Given the description of an element on the screen output the (x, y) to click on. 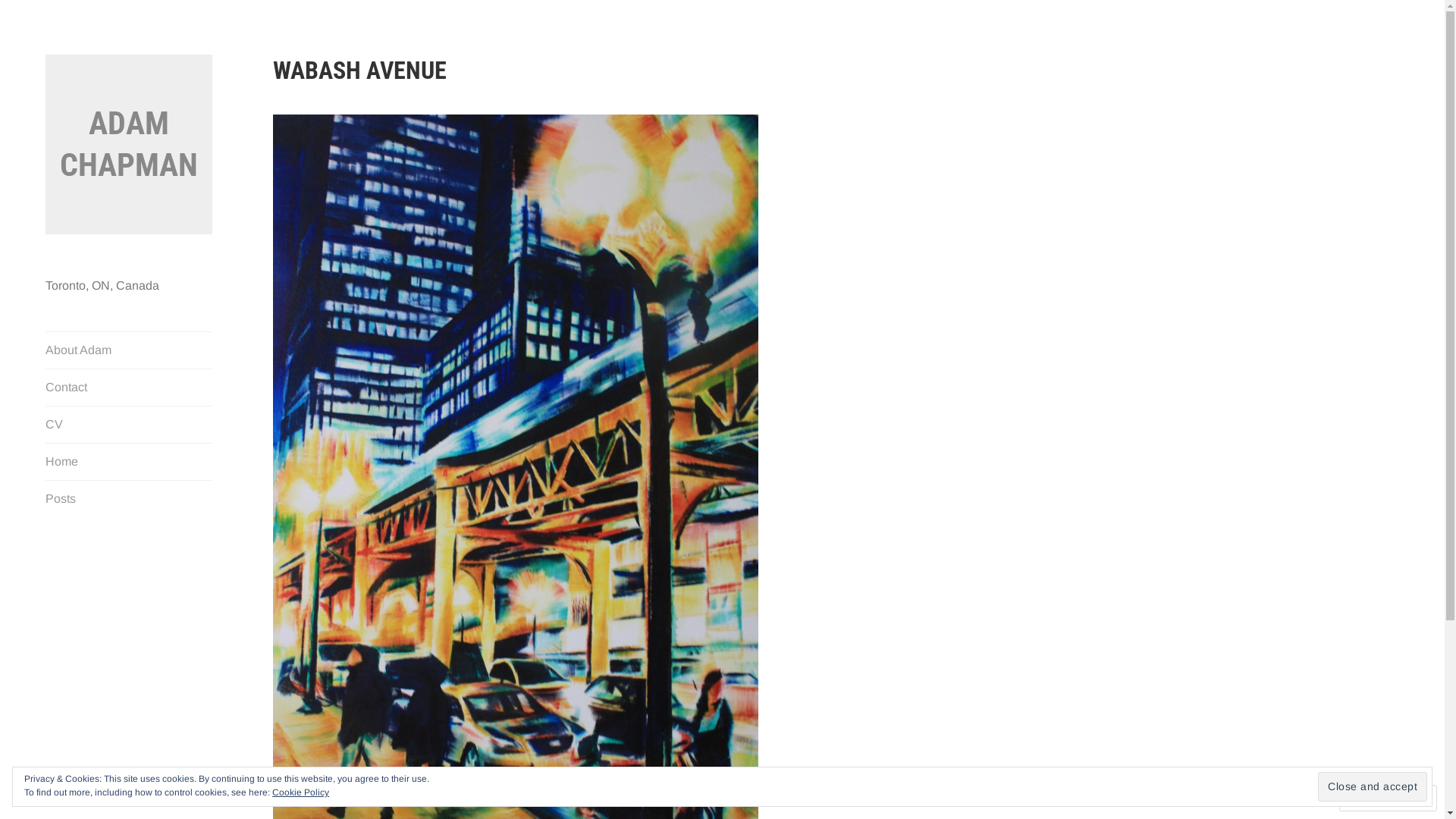
Posts Element type: text (128, 498)
Contact Element type: text (128, 387)
About Adam Element type: text (128, 350)
Follow Element type: text (1373, 797)
Cookie Policy Element type: text (300, 792)
ADAM CHAPMAN Element type: text (128, 143)
Home Element type: text (128, 461)
Close and accept Element type: text (1372, 786)
CV Element type: text (128, 424)
